Given the description of an element on the screen output the (x, y) to click on. 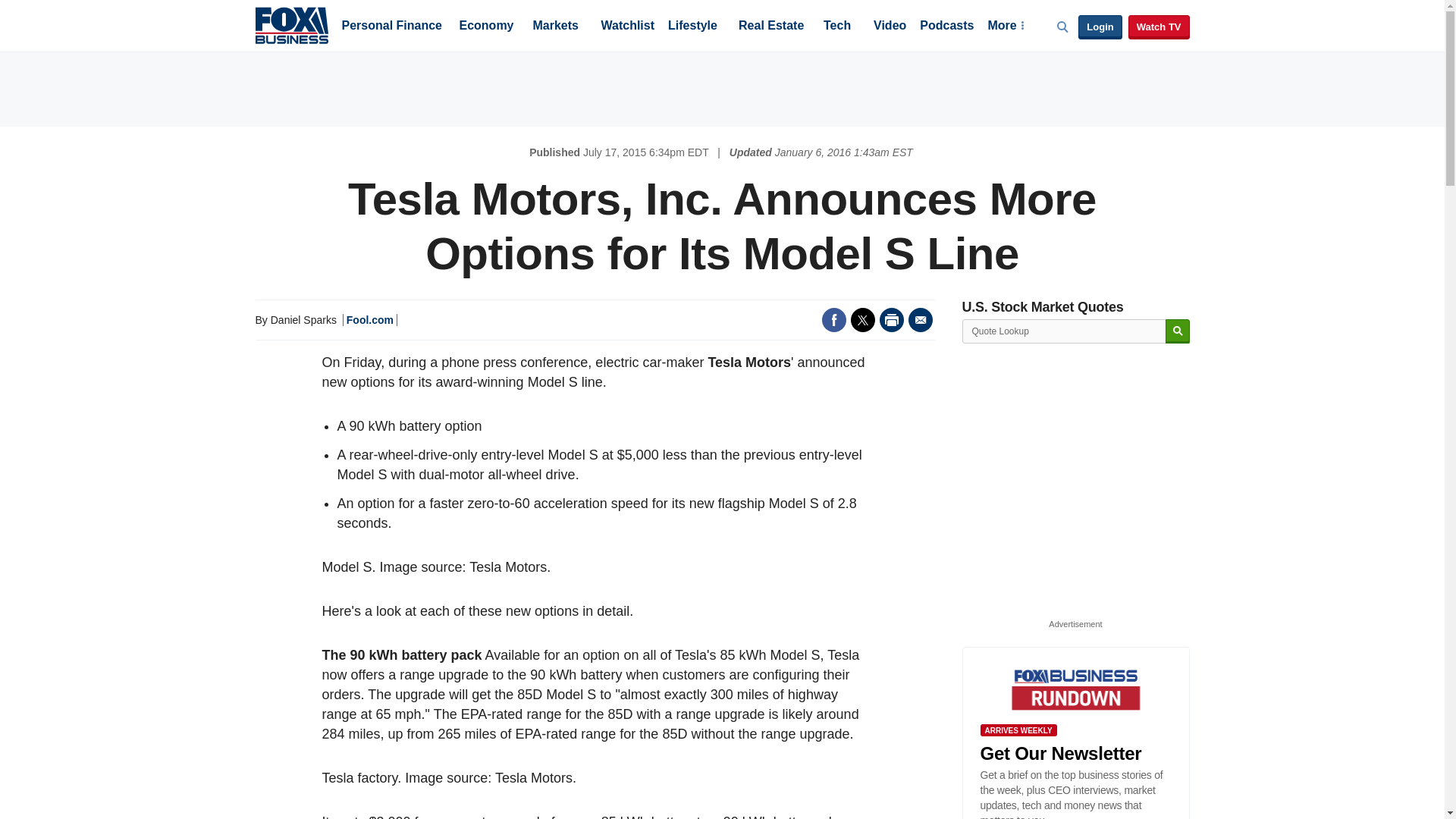
Login (1099, 27)
Lifestyle (692, 27)
Watch TV (1158, 27)
Economy (486, 27)
Markets (555, 27)
More (1005, 27)
Fox Business (290, 24)
Search (1176, 331)
Video (889, 27)
Tech (837, 27)
